Given the description of an element on the screen output the (x, y) to click on. 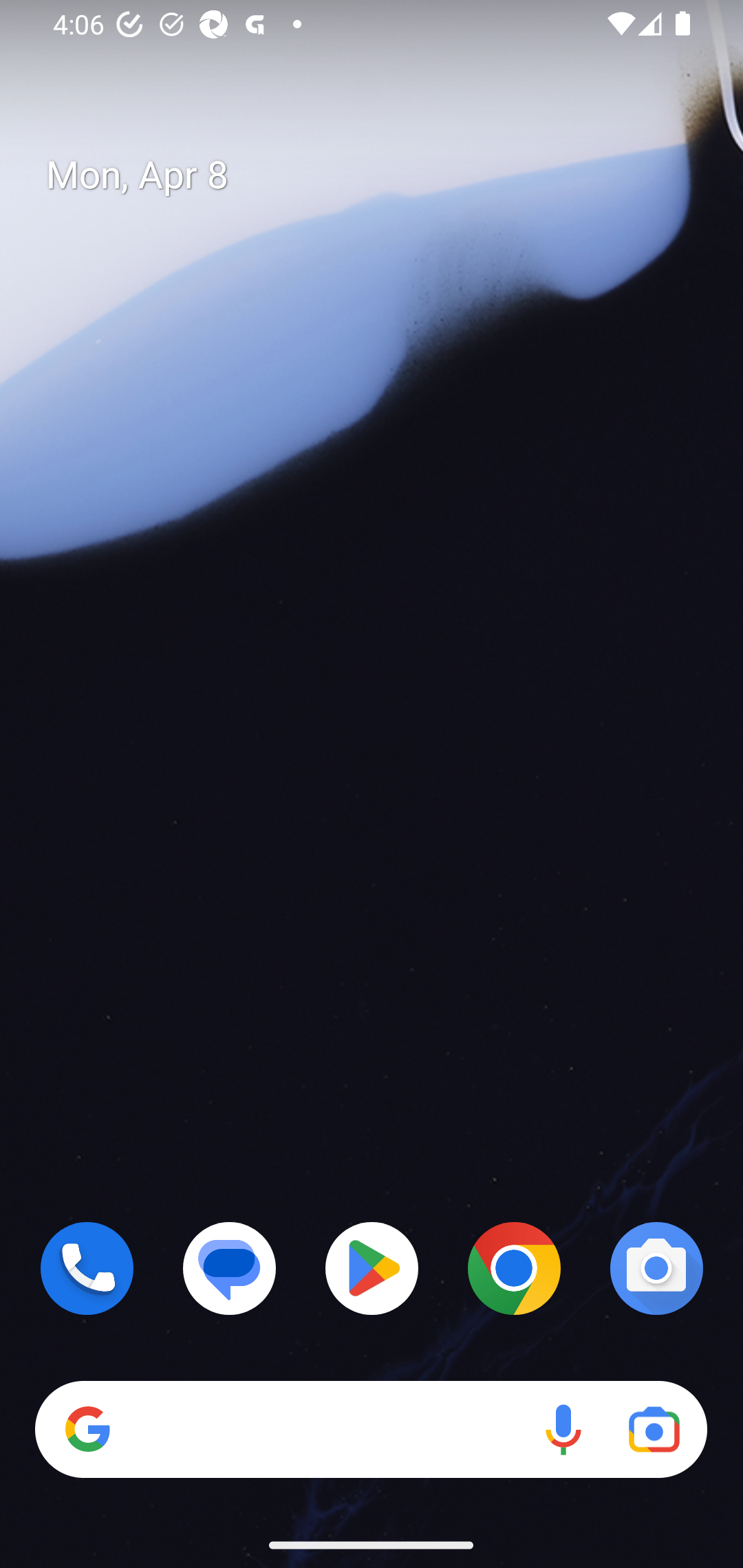
Mon, Apr 8 (386, 175)
Phone (86, 1268)
Messages (229, 1268)
Play Store (371, 1268)
Chrome (513, 1268)
Camera (656, 1268)
Search Voice search Google Lens (370, 1429)
Voice search (562, 1429)
Google Lens (653, 1429)
